Given the description of an element on the screen output the (x, y) to click on. 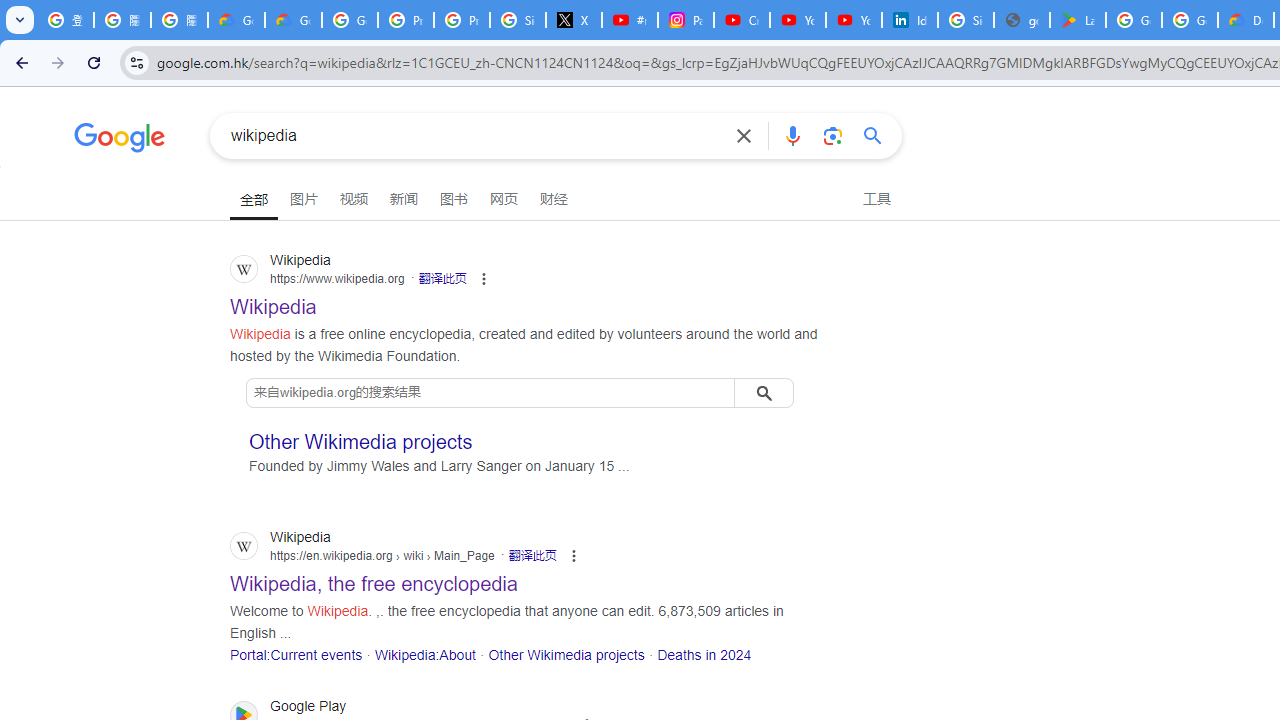
Sign in - Google Accounts (966, 20)
YouTube Culture & Trends - YouTube Top 10, 2021 (853, 20)
Google Cloud Privacy Notice (235, 20)
Google Cloud Privacy Notice (293, 20)
Privacy Help Center - Policies Help (461, 20)
